Given the description of an element on the screen output the (x, y) to click on. 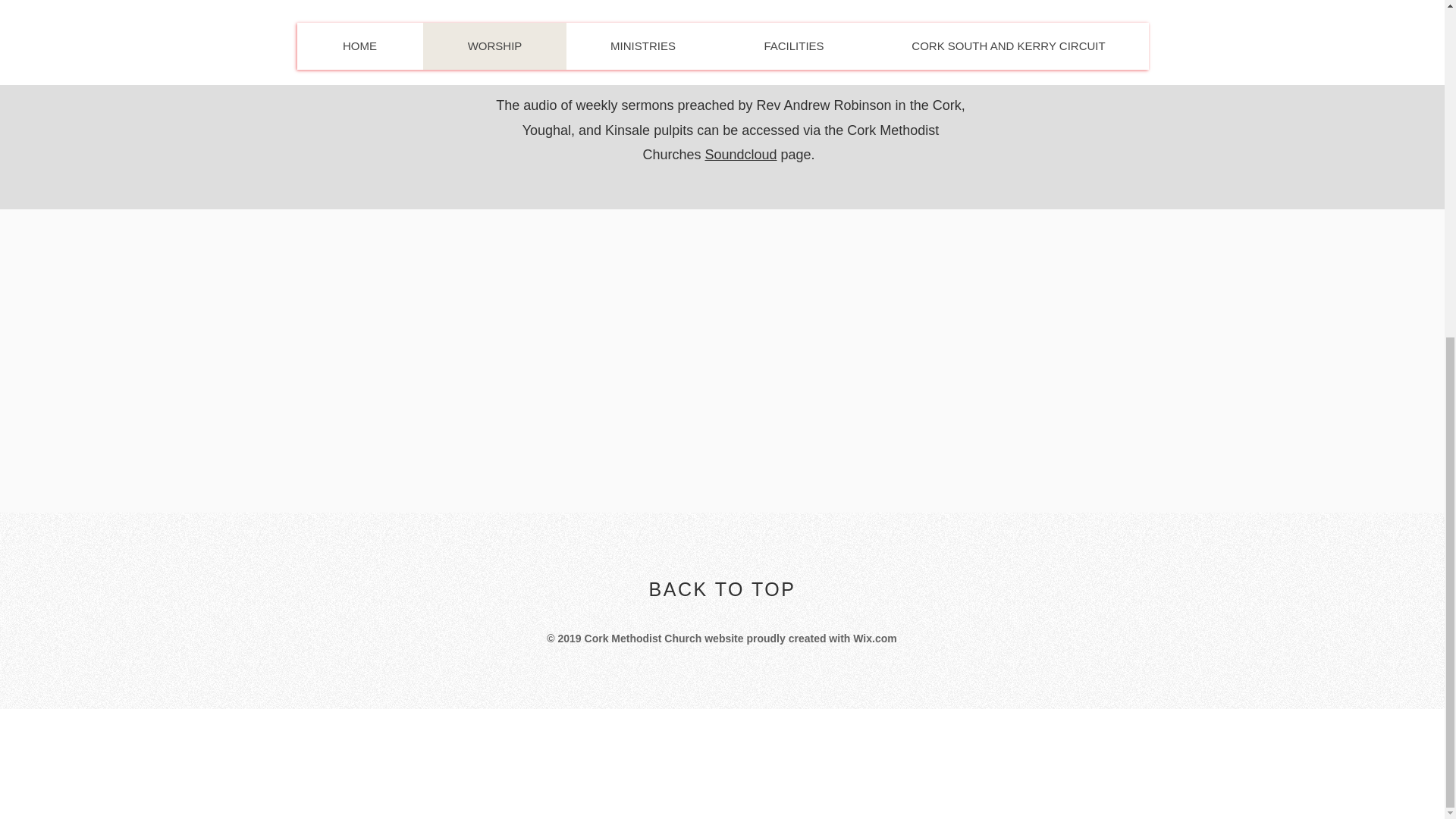
Soundcloud (740, 154)
Wix.com (874, 638)
BACK TO TOP (722, 588)
here (834, 55)
